Given the description of an element on the screen output the (x, y) to click on. 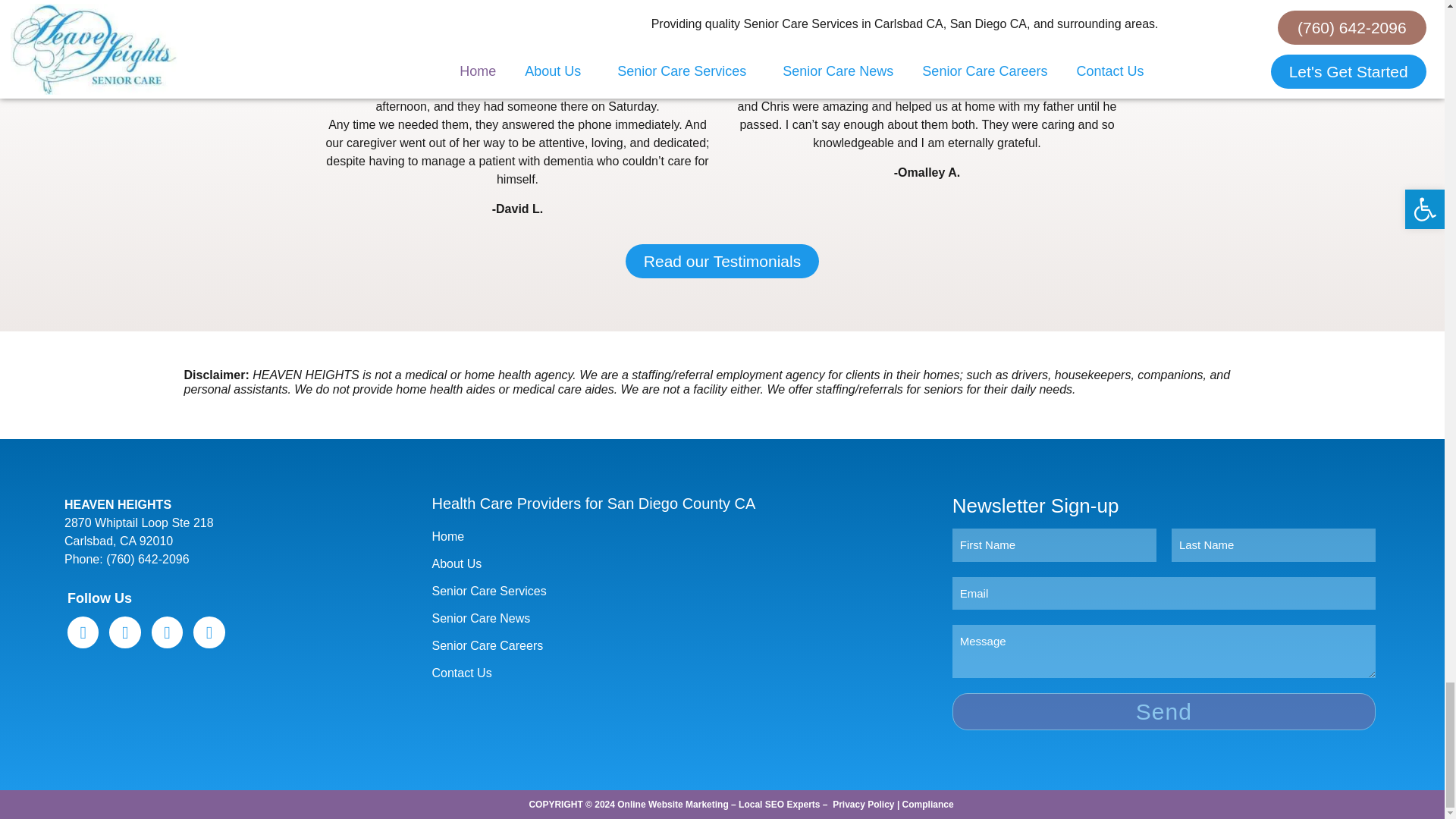
Online Website Marketing - Local SEO Experts (718, 804)
